Given the description of an element on the screen output the (x, y) to click on. 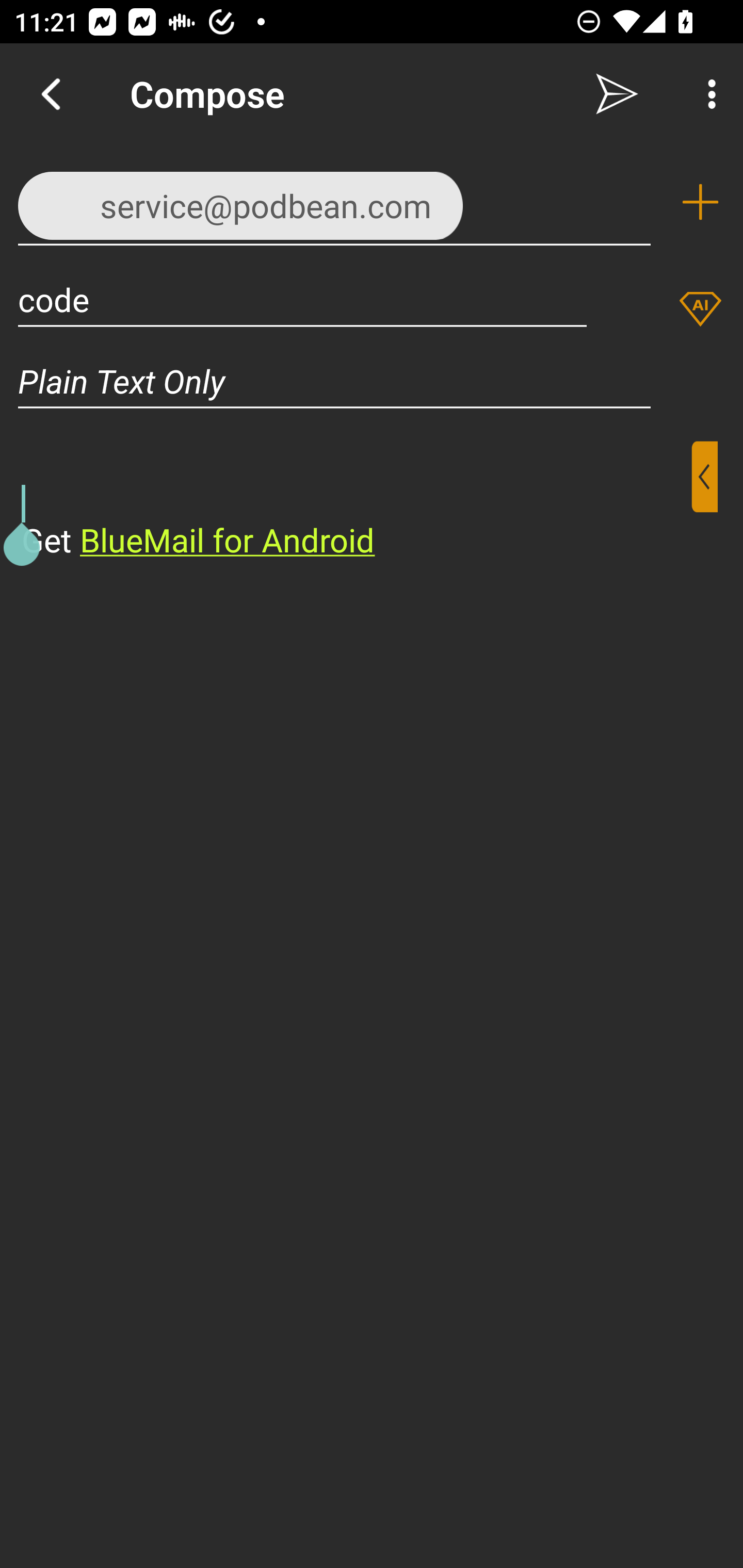
Navigate up (50, 93)
Send (616, 93)
More Options (706, 93)
<service@podbean.com>,  (334, 201)
Add recipient (To) (699, 201)
code (302, 299)
Plain Text Only (371, 380)


⁣Get BlueMail for Android ​ (355, 501)
